Given the description of an element on the screen output the (x, y) to click on. 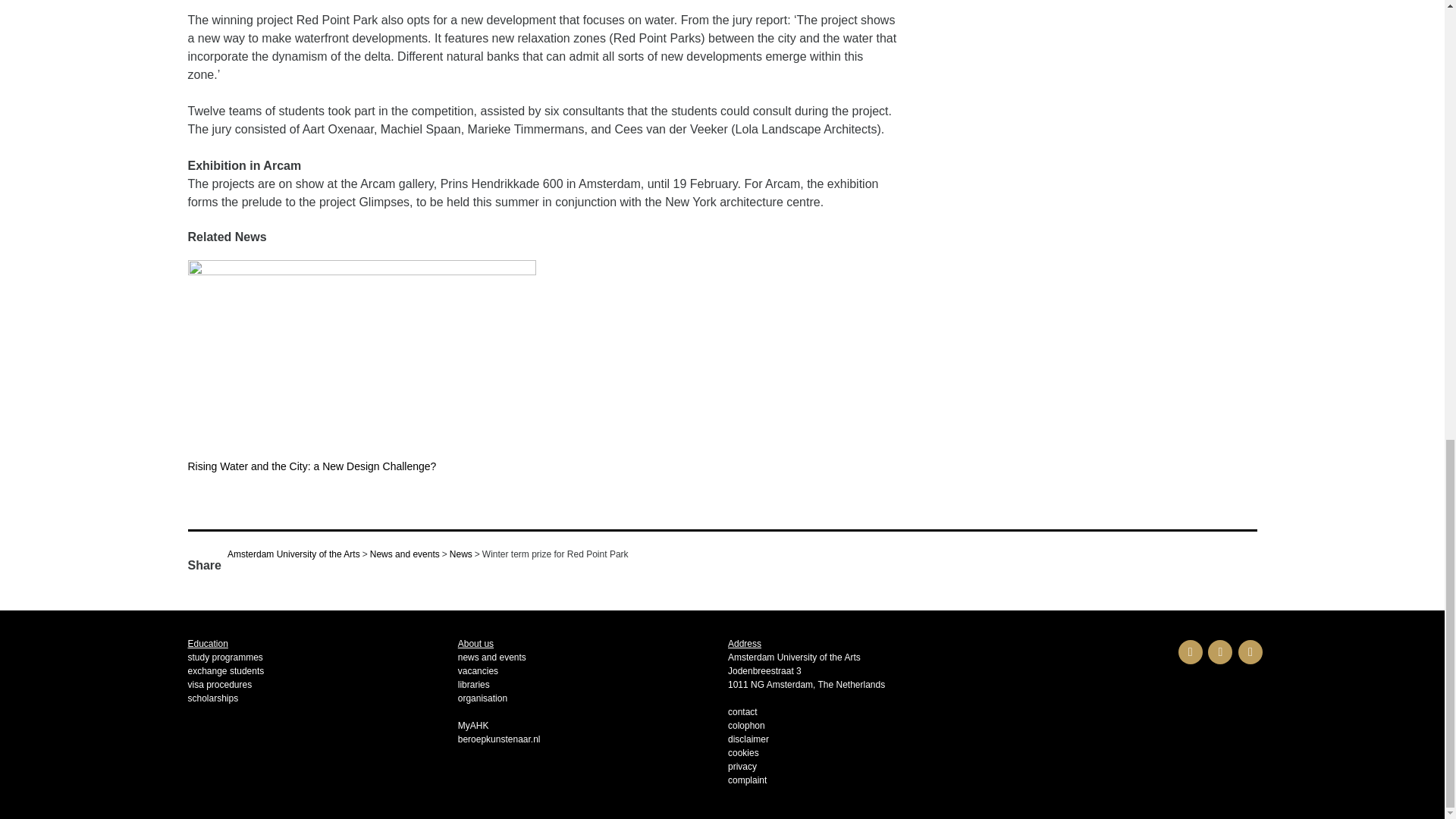
Rising Water and the City: a New Design Challenge? (362, 376)
News (460, 553)
Amsterdam University of the Arts (293, 553)
News and events (404, 553)
